Given the description of an element on the screen output the (x, y) to click on. 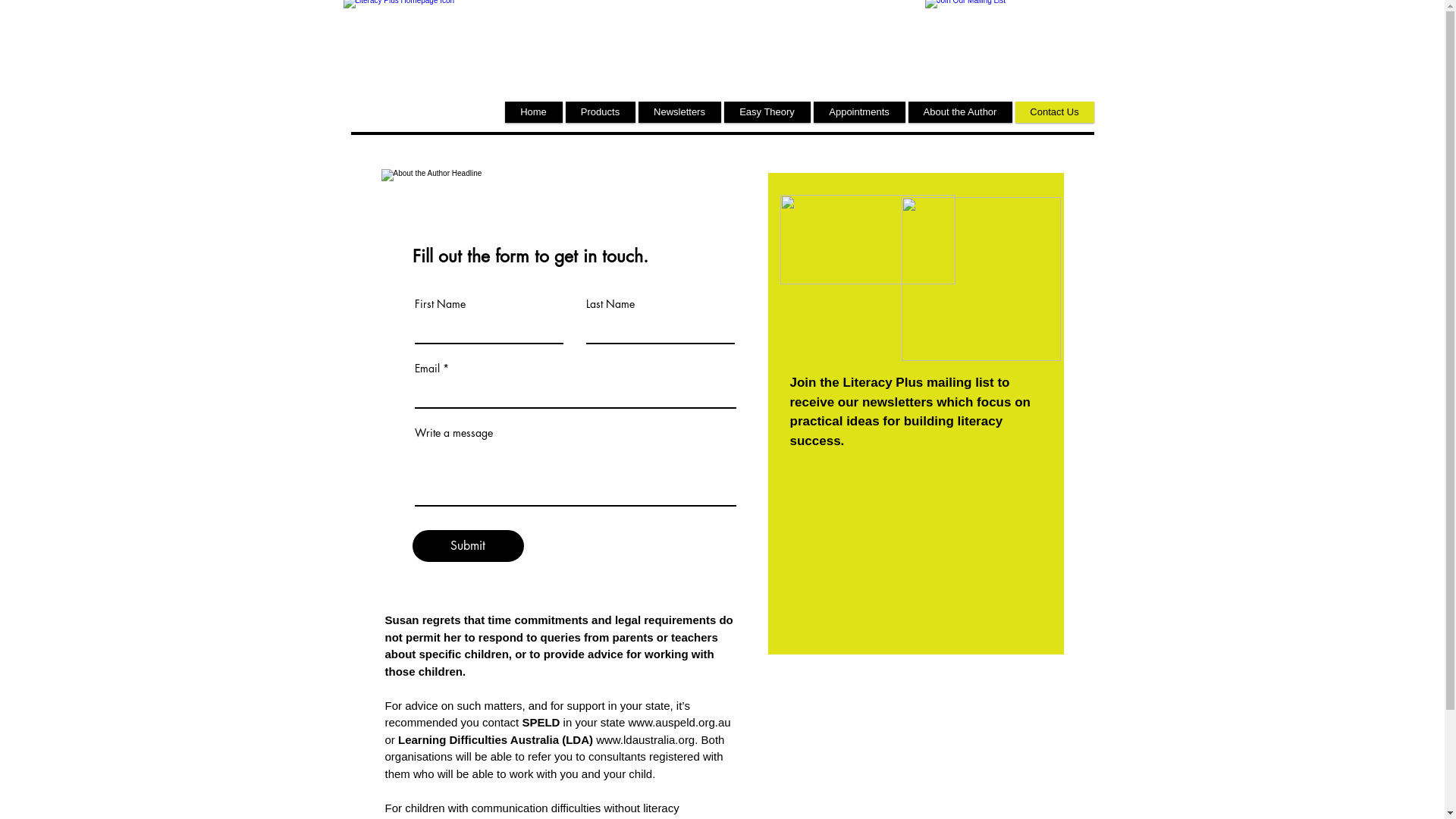
Newsletters Element type: text (679, 111)
Home Element type: text (533, 111)
Sign up for our Mailing LIst Element type: hover (866, 239)
Submit Element type: text (468, 545)
Easy Theory Element type: text (766, 111)
Contact Us Element type: text (1053, 111)
Appointments Element type: text (858, 111)
www.auspeld.org.au Element type: text (678, 721)
About the Author Element type: text (960, 111)
Products Element type: text (600, 111)
www.ldaustralia.org Element type: text (645, 739)
TruContact Element type: hover (918, 551)
